Given the description of an element on the screen output the (x, y) to click on. 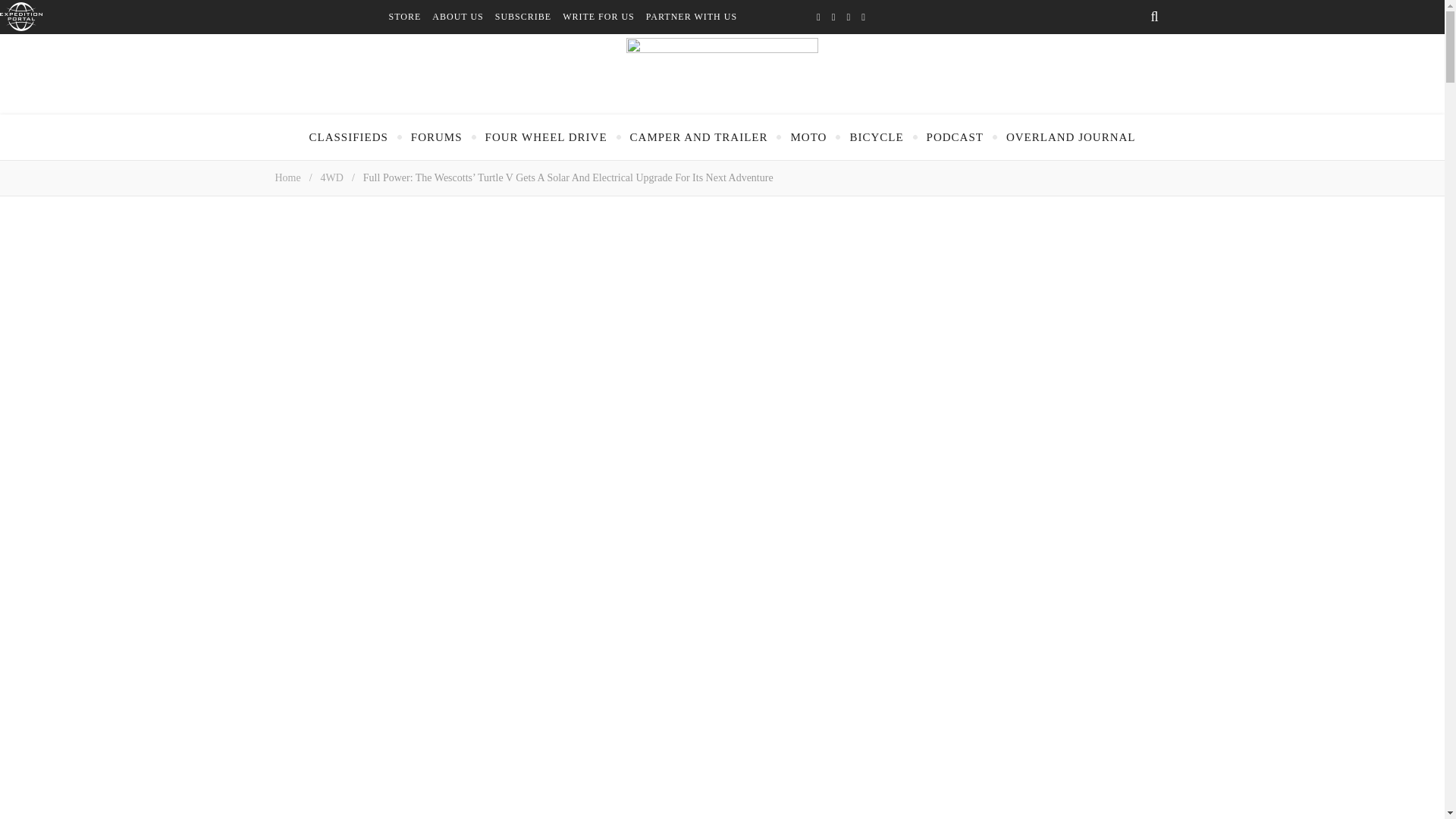
CAMPER AND TRAILER (699, 136)
WRITE FOR US (604, 17)
FOUR WHEEL DRIVE (545, 136)
STORE (410, 17)
Home (287, 177)
Expedition Portal (21, 16)
Home (287, 177)
BICYCLE (875, 136)
SUBSCRIBE (528, 17)
OVERLAND JOURNAL (1070, 136)
